Given the description of an element on the screen output the (x, y) to click on. 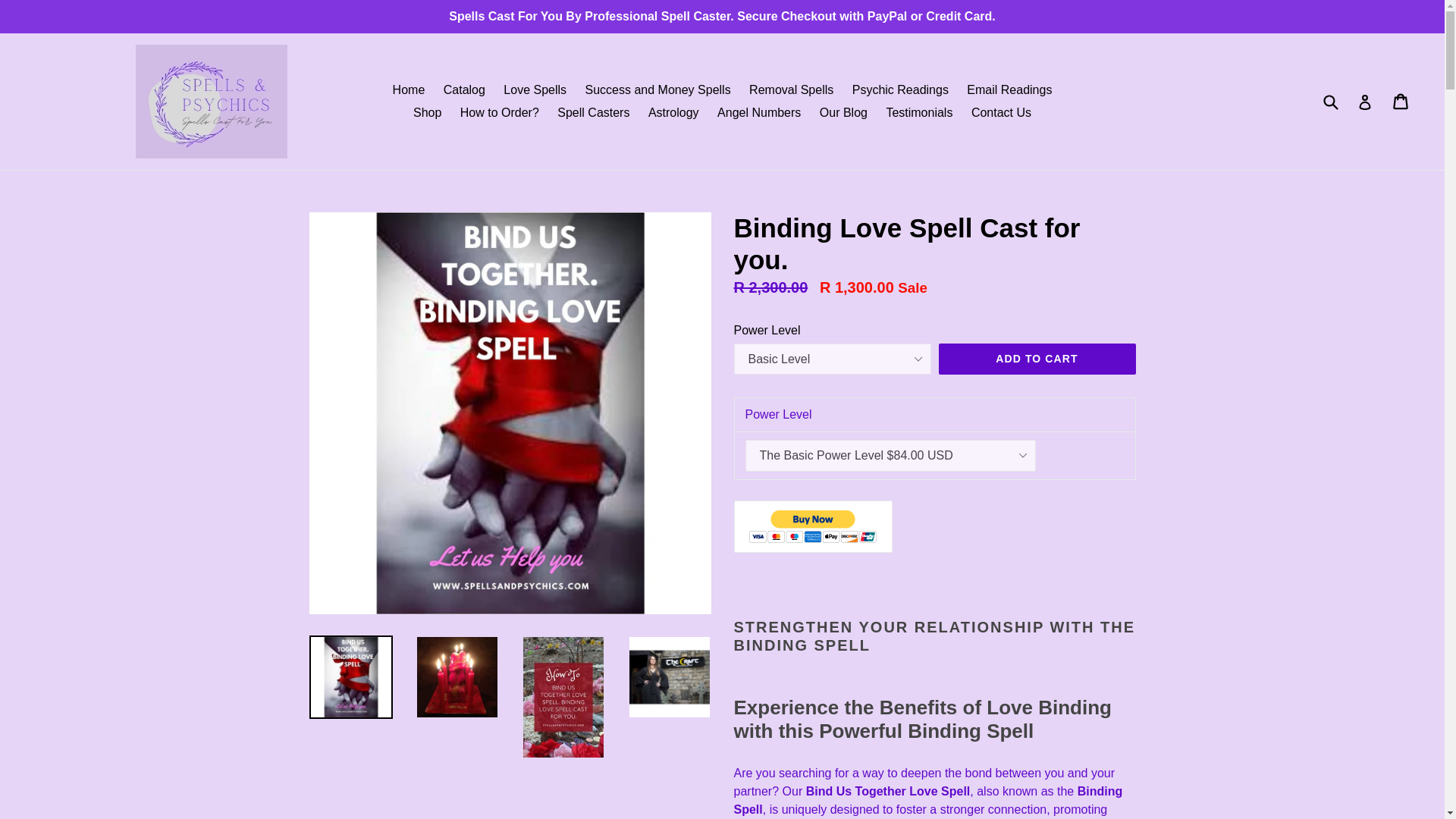
How to Order? (499, 112)
Astrology (673, 112)
Success and Money Spells (658, 89)
Contact Us (1001, 112)
Catalog (464, 89)
Angel Numbers (759, 112)
Removal Spells (791, 89)
Spell Casters (593, 112)
Love Spells (534, 89)
Testimonials (918, 112)
